Given the description of an element on the screen output the (x, y) to click on. 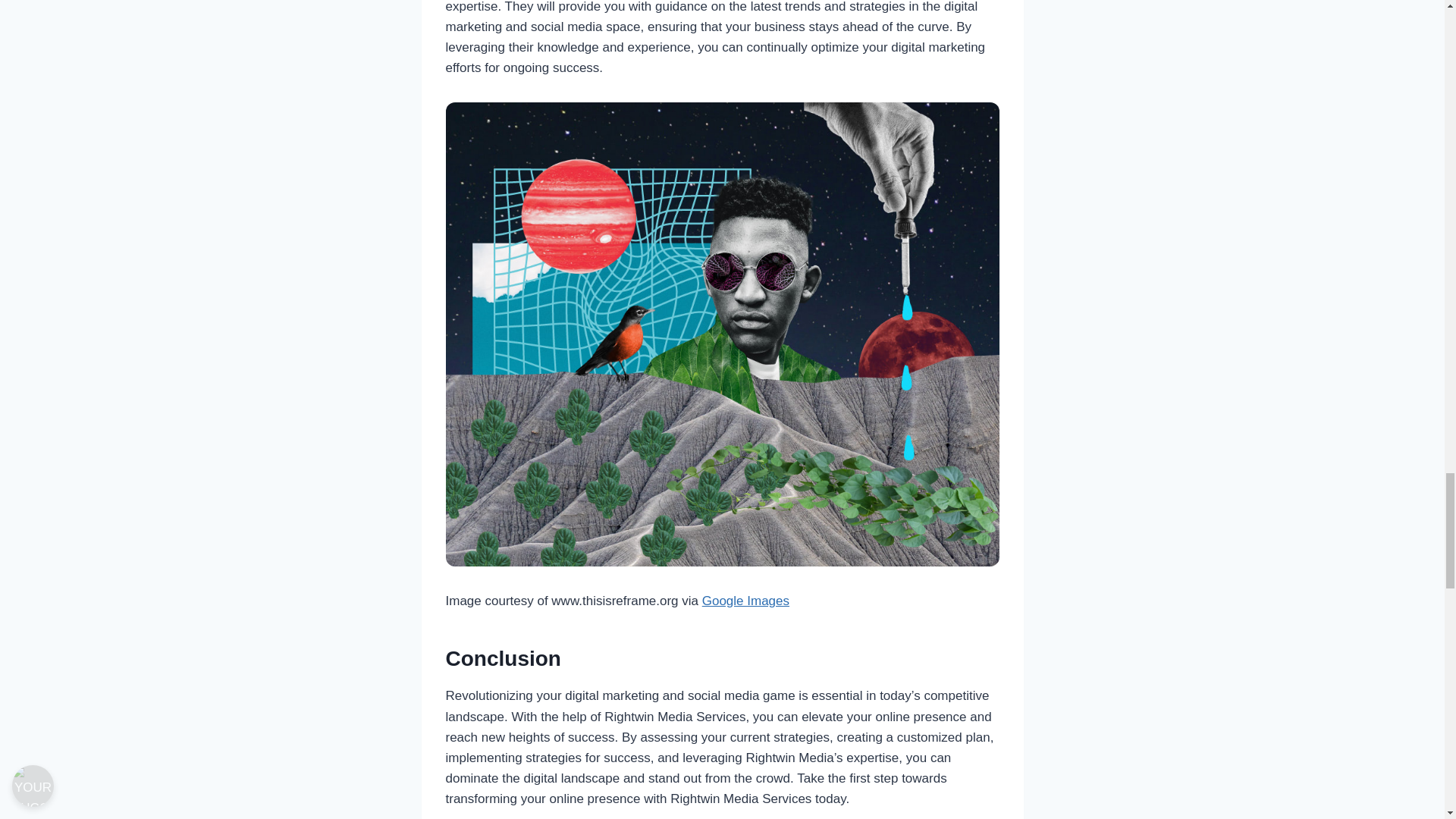
Google Images (745, 600)
